Given the description of an element on the screen output the (x, y) to click on. 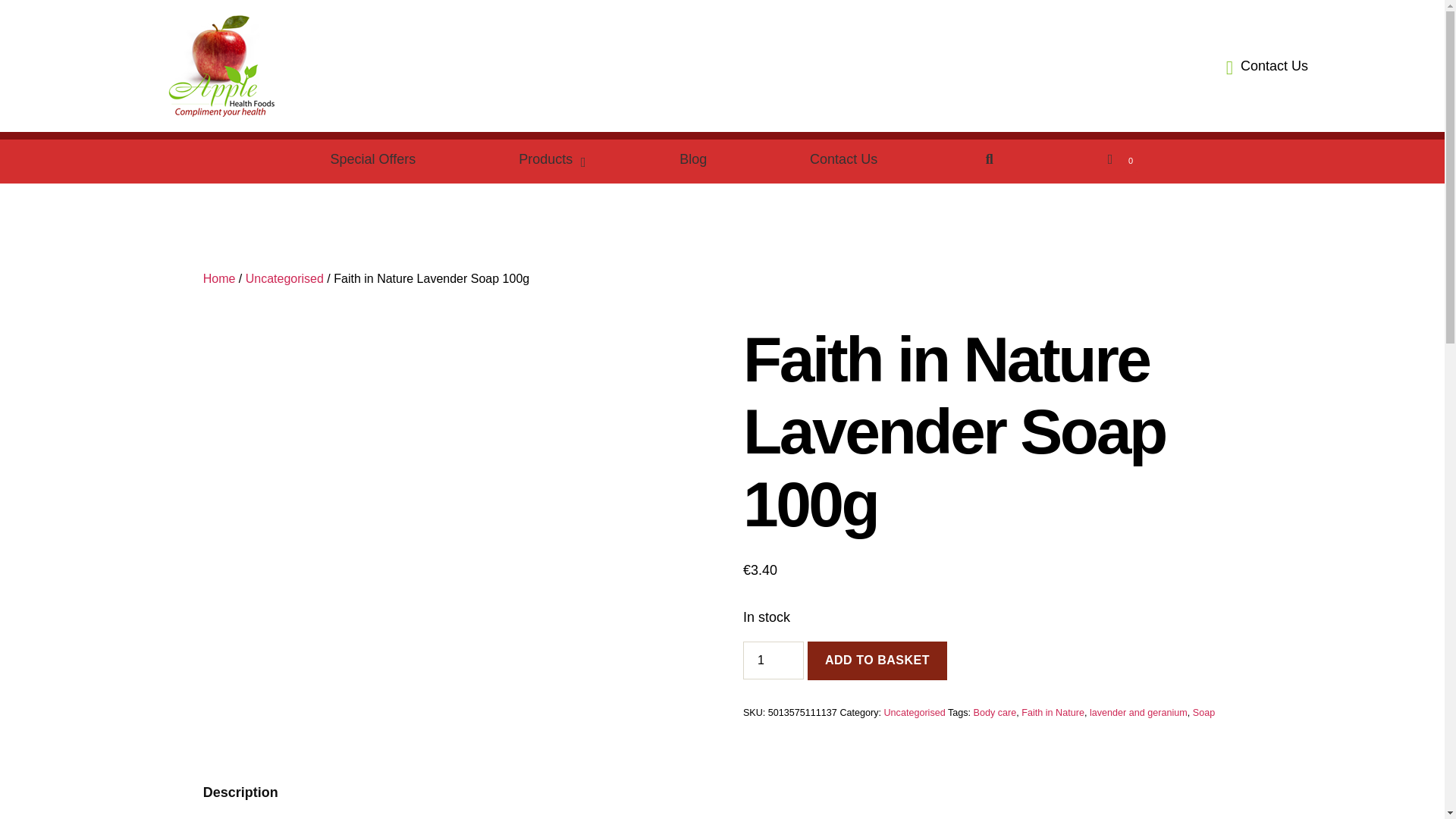
Special Offers (373, 159)
Qty (772, 660)
1 (772, 660)
Products (547, 159)
Contact Us (1262, 67)
